Given the description of an element on the screen output the (x, y) to click on. 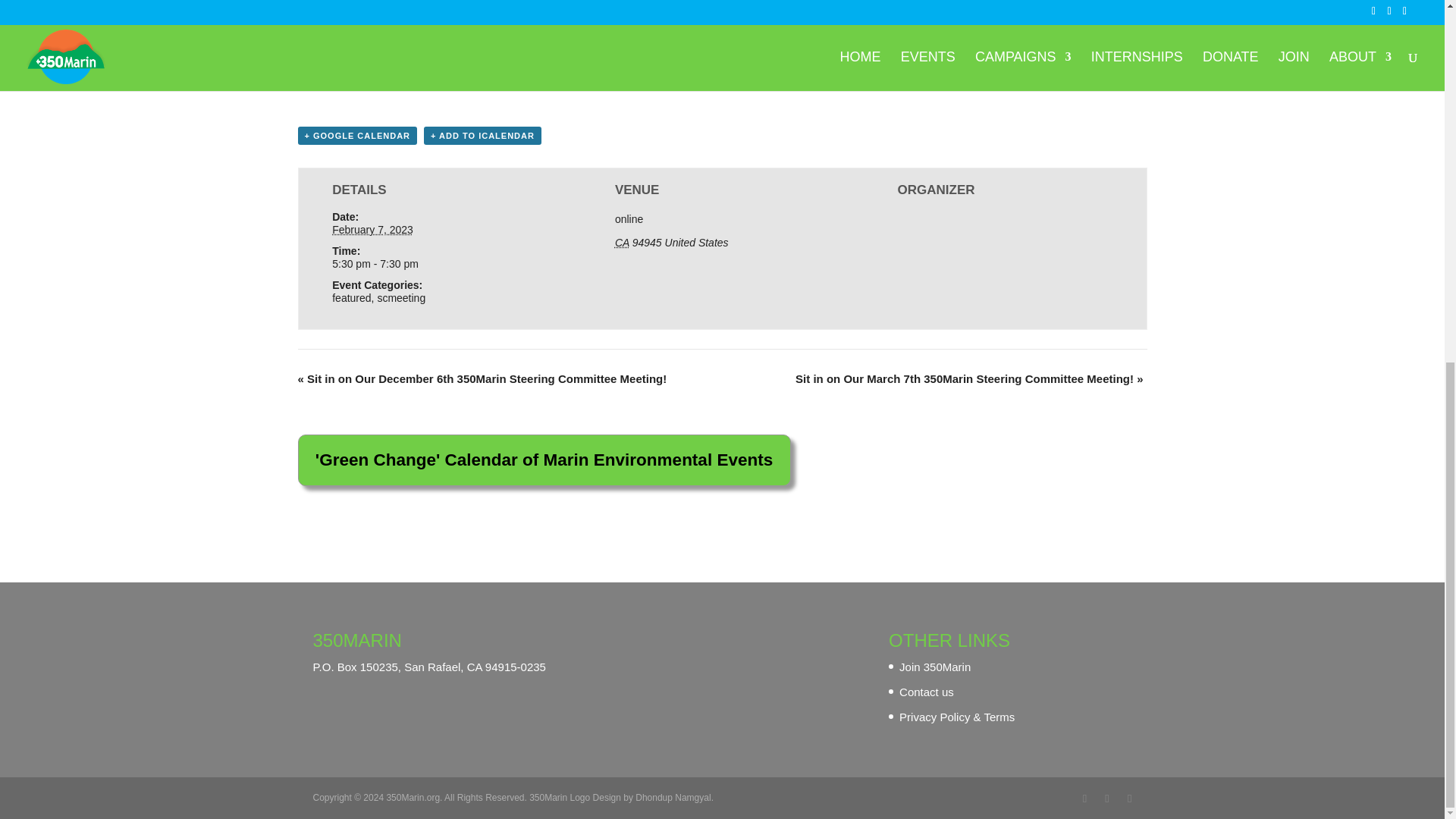
Contact us (926, 691)
2023-02-07 (439, 263)
Add to Google Calendar (356, 135)
2023-02-07 (372, 229)
featured (351, 297)
'Green Change' Calendar of Marin Environmental Events (543, 460)
scmeeting (401, 297)
Download .ics file (482, 135)
California (621, 242)
Join 350Marin (935, 666)
